Given the description of an element on the screen output the (x, y) to click on. 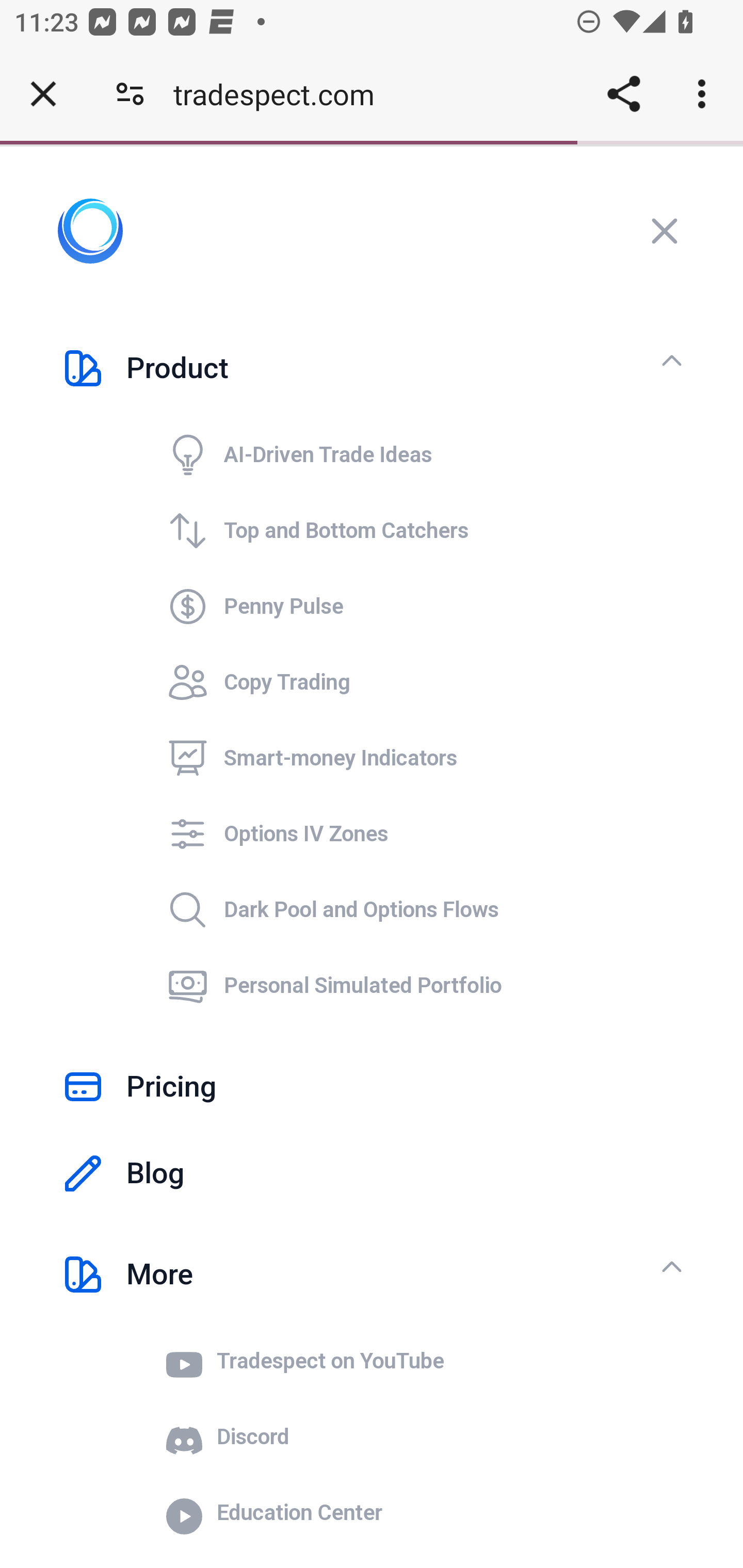
Close tab (43, 93)
Share (623, 93)
Customize and control Google Chrome (705, 93)
Connection is secure (129, 93)
tradespect.com (281, 93)
AI-Driven Trade Ideas (405, 455)
Top and Bottom Catchers (405, 530)
Penny Pulse (405, 606)
Copy Trading (405, 682)
Smart-money Indicators (405, 759)
Options IV Zones (405, 834)
Dark Pool and Options Flows (405, 910)
Personal Simulated Portfolio (405, 986)
Pricing (371, 1086)
Blog (371, 1173)
Tradespect on YouTube (405, 1361)
Discord (405, 1436)
Education Center (405, 1513)
